Given the description of an element on the screen output the (x, y) to click on. 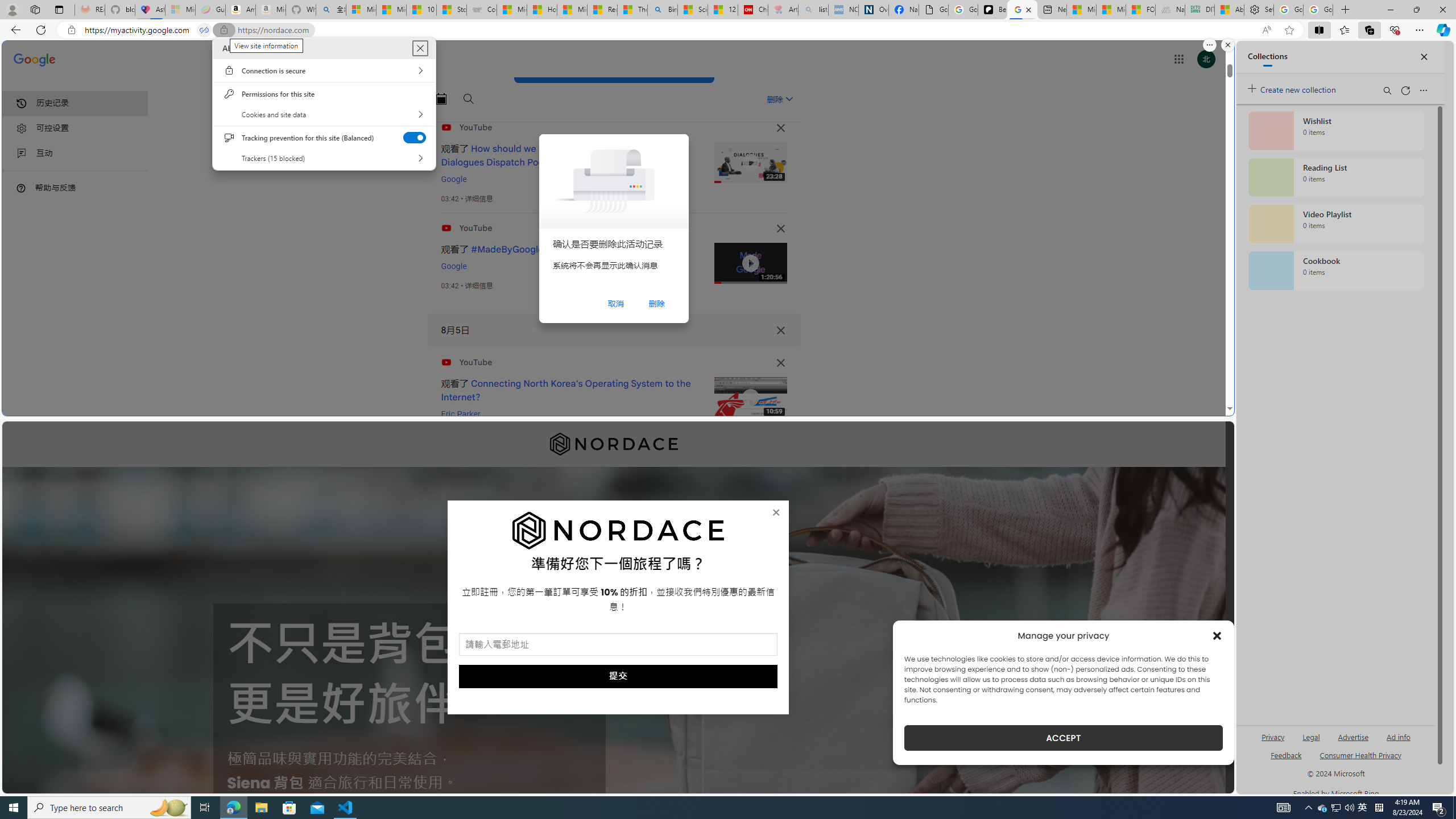
Close split screen. (1227, 45)
Combat Siege (481, 9)
Class: TjcpUd NMm5M (780, 362)
Read aloud this page (Ctrl+Shift+U) (1266, 29)
Recipes - MSN (601, 9)
Arthritis: Ask Health Professionals - Sleeping (782, 9)
Favorites (1344, 29)
Personal Profile (12, 9)
Permissions for this site (323, 93)
